Given the description of an element on the screen output the (x, y) to click on. 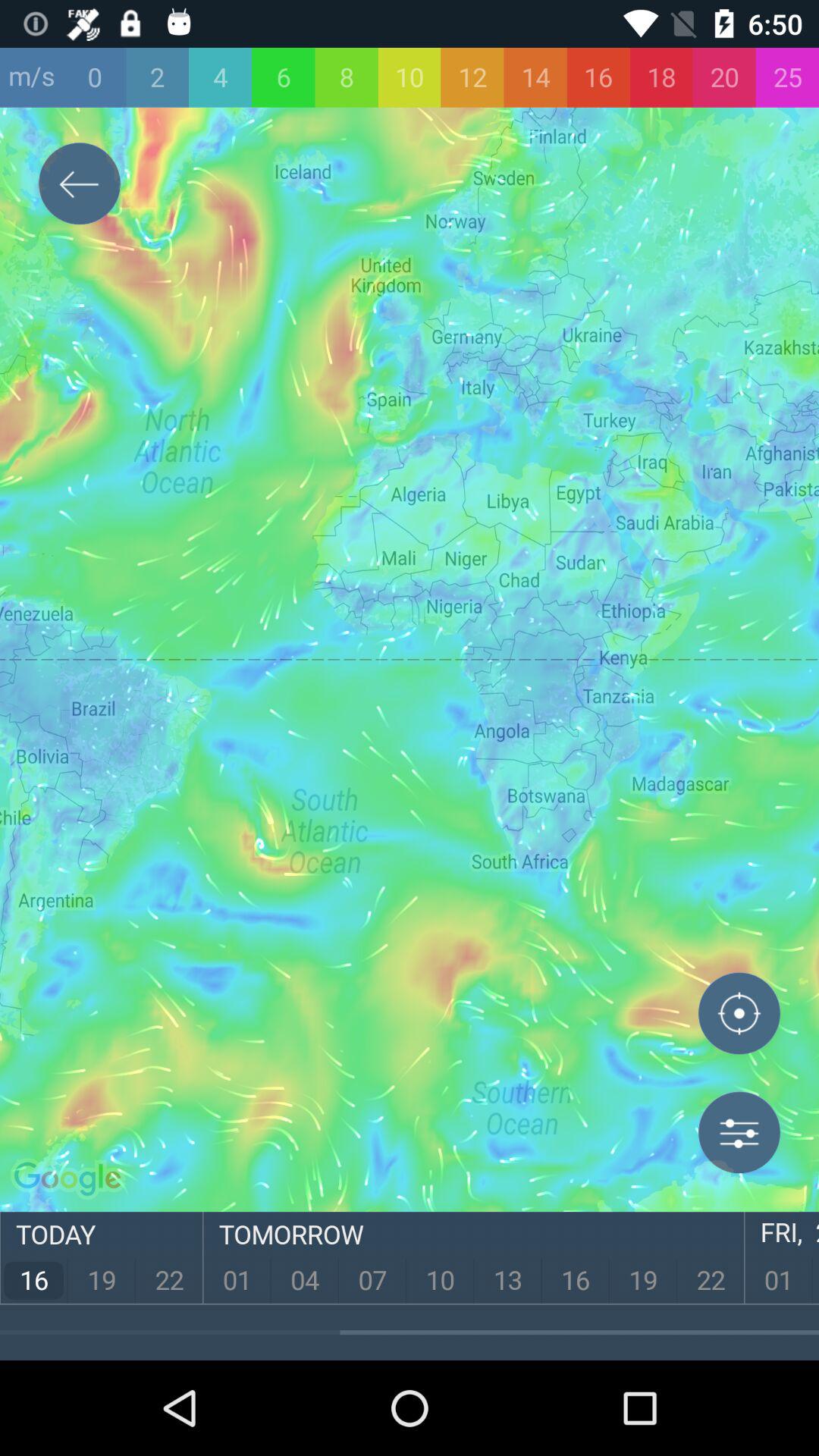
options (739, 1132)
